Given the description of an element on the screen output the (x, y) to click on. 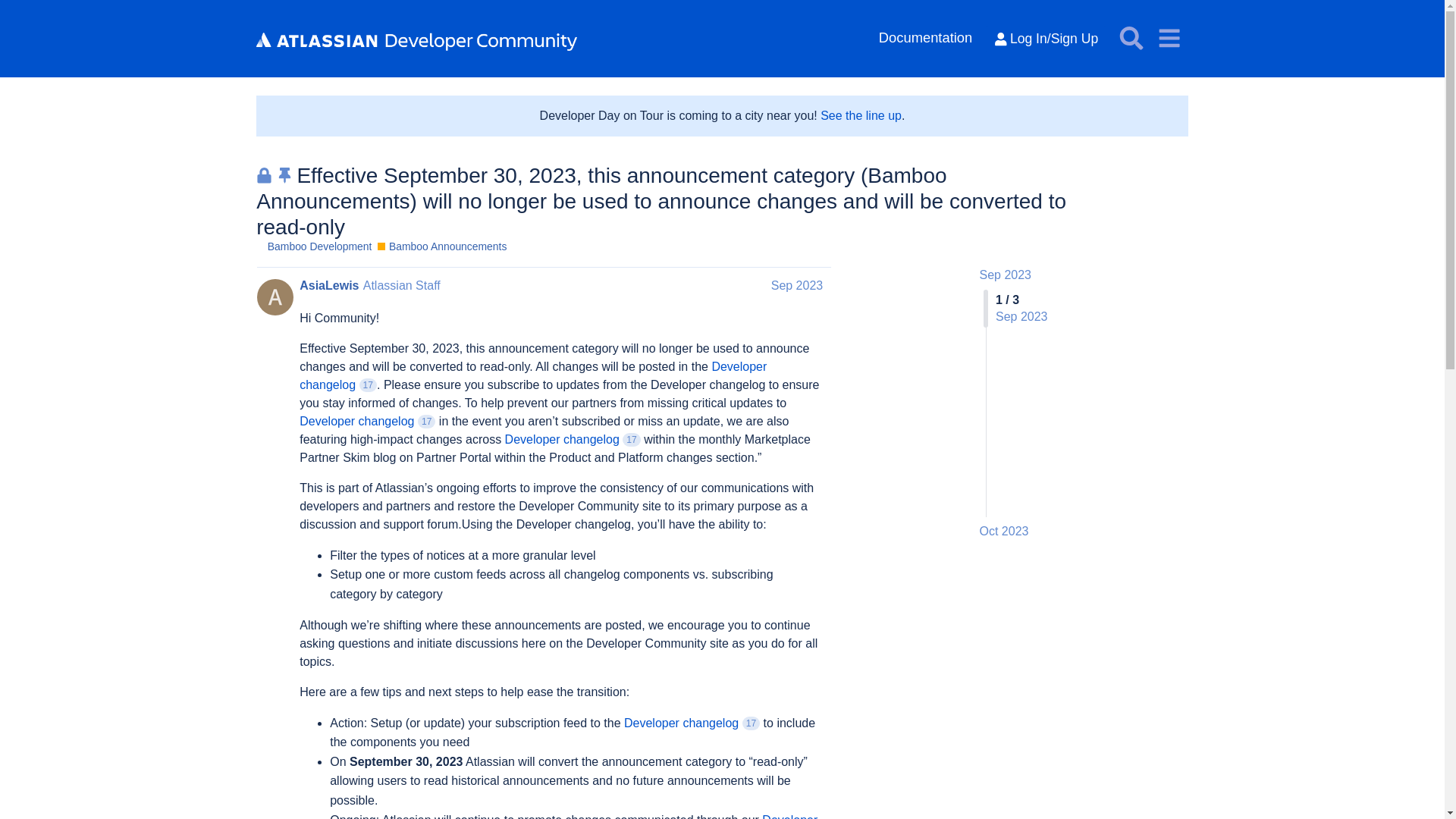
Log In (1045, 38)
Sep 2023 (1005, 274)
Oct 2023 (1004, 531)
See the line up (861, 115)
Developer changelog 17 (692, 722)
17 clicks (631, 439)
Atlassian Staff (401, 285)
Documentation (925, 37)
17 clicks (751, 723)
menu (1169, 37)
Bamboo Announcements (441, 246)
Developer changelog 17 (533, 375)
Search (1131, 37)
